Given the description of an element on the screen output the (x, y) to click on. 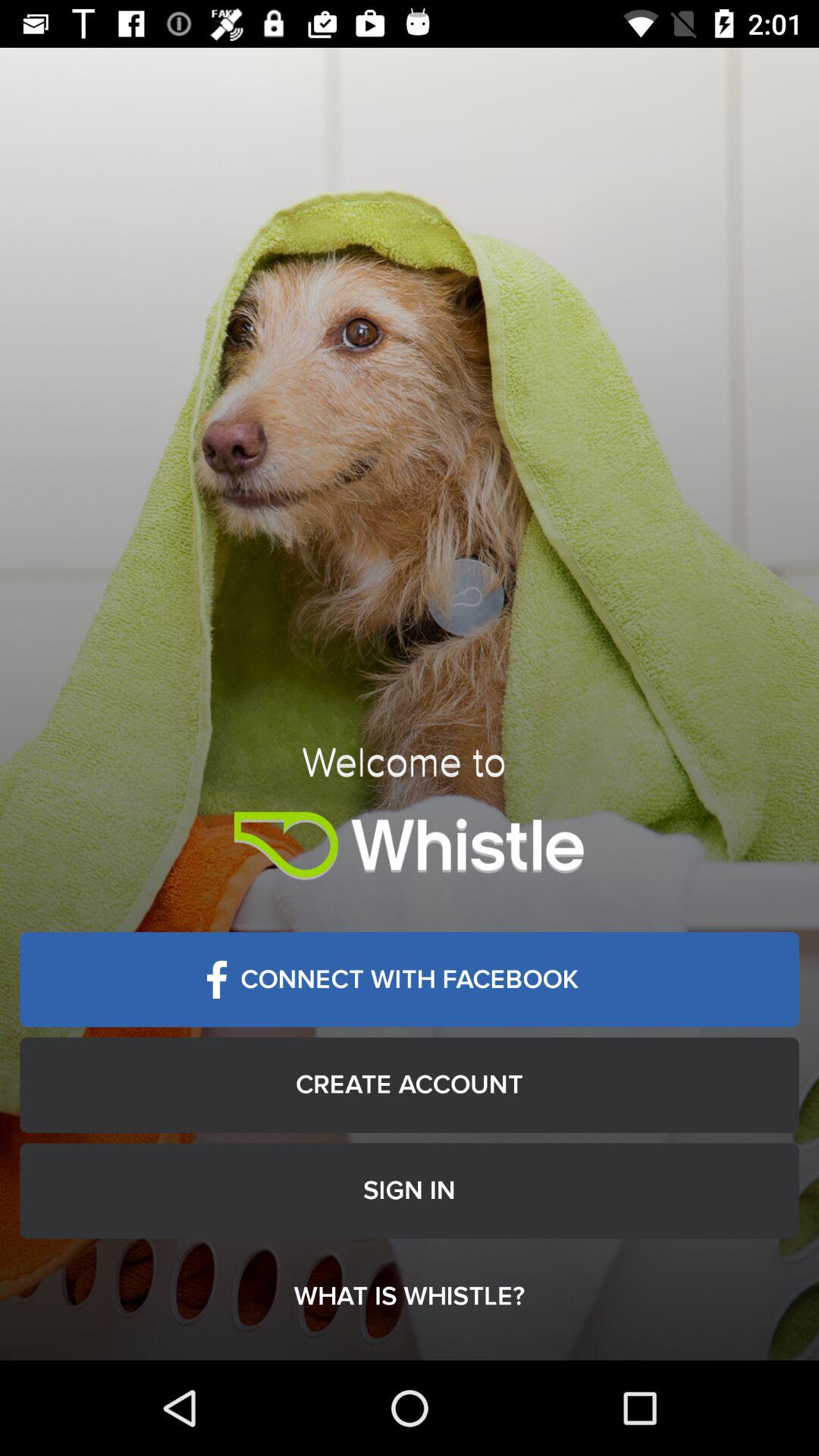
swipe to create account (409, 1084)
